Given the description of an element on the screen output the (x, y) to click on. 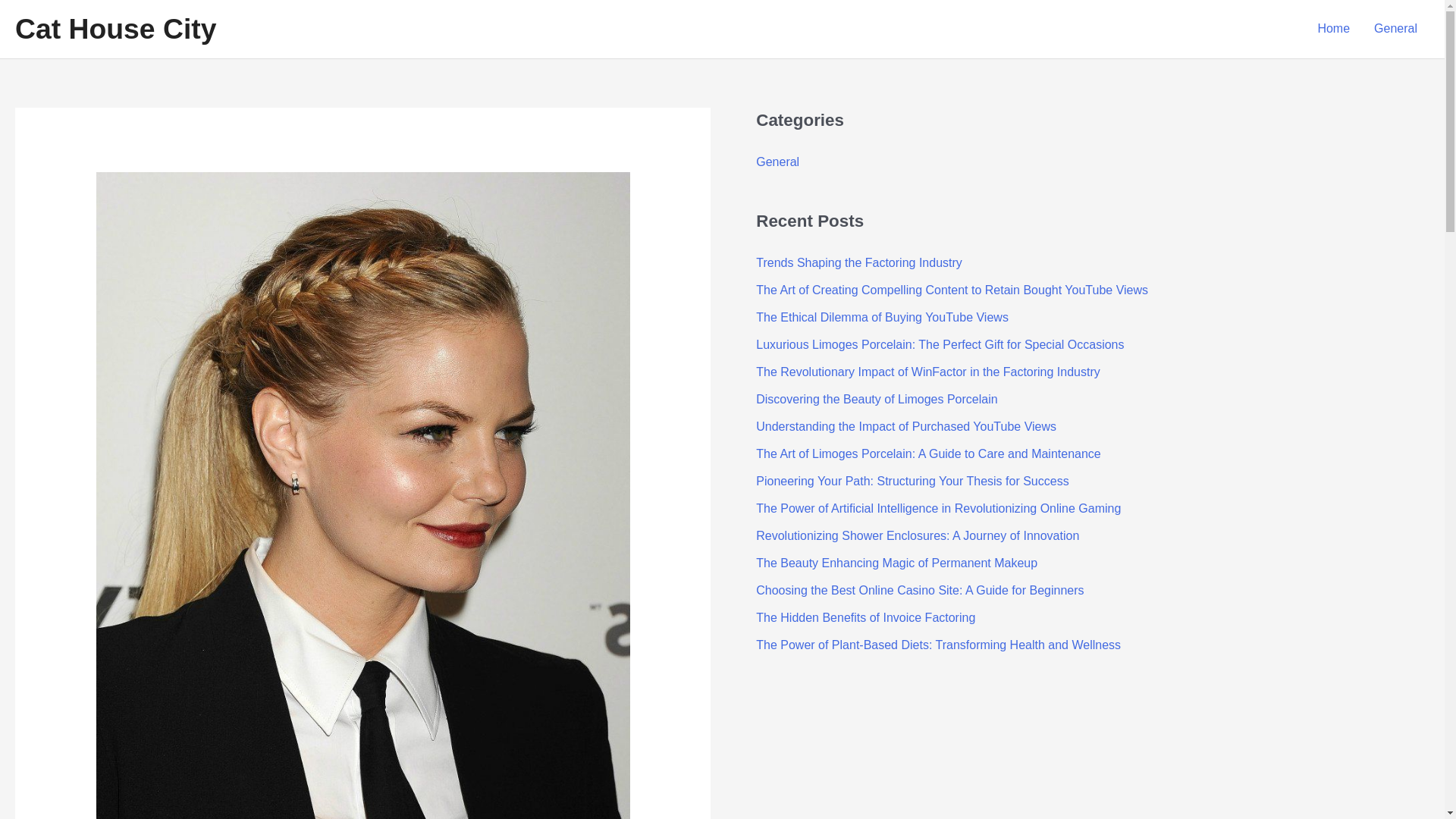
Pioneering Your Path: Structuring Your Thesis for Success (911, 481)
Understanding the Impact of Purchased YouTube Views (906, 426)
Home (1332, 28)
General (1395, 28)
Cat House City (115, 29)
The Beauty Enhancing Magic of Permanent Makeup (895, 562)
The Hidden Benefits of Invoice Factoring (865, 617)
Choosing the Best Online Casino Site: A Guide for Beginners (919, 590)
The Ethical Dilemma of Buying YouTube Views (882, 317)
Revolutionizing Shower Enclosures: A Journey of Innovation (916, 535)
